Given the description of an element on the screen output the (x, y) to click on. 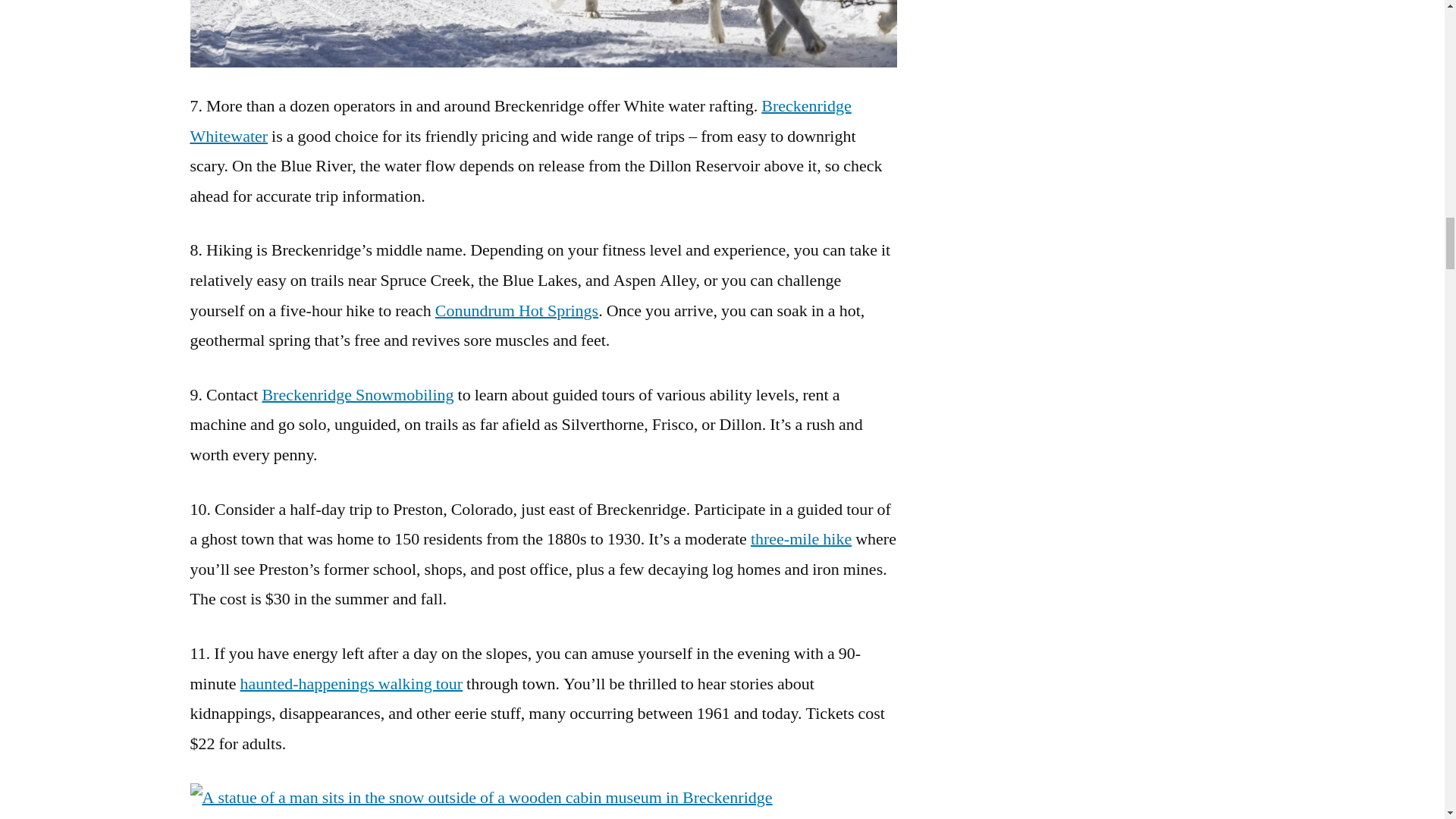
three-mile hike (801, 538)
Breckenridge Snowmobiling (357, 394)
Conundrum Hot Springs (516, 310)
Breckenridge Whitewater (519, 121)
haunted-happenings walking tour (351, 683)
